Given the description of an element on the screen output the (x, y) to click on. 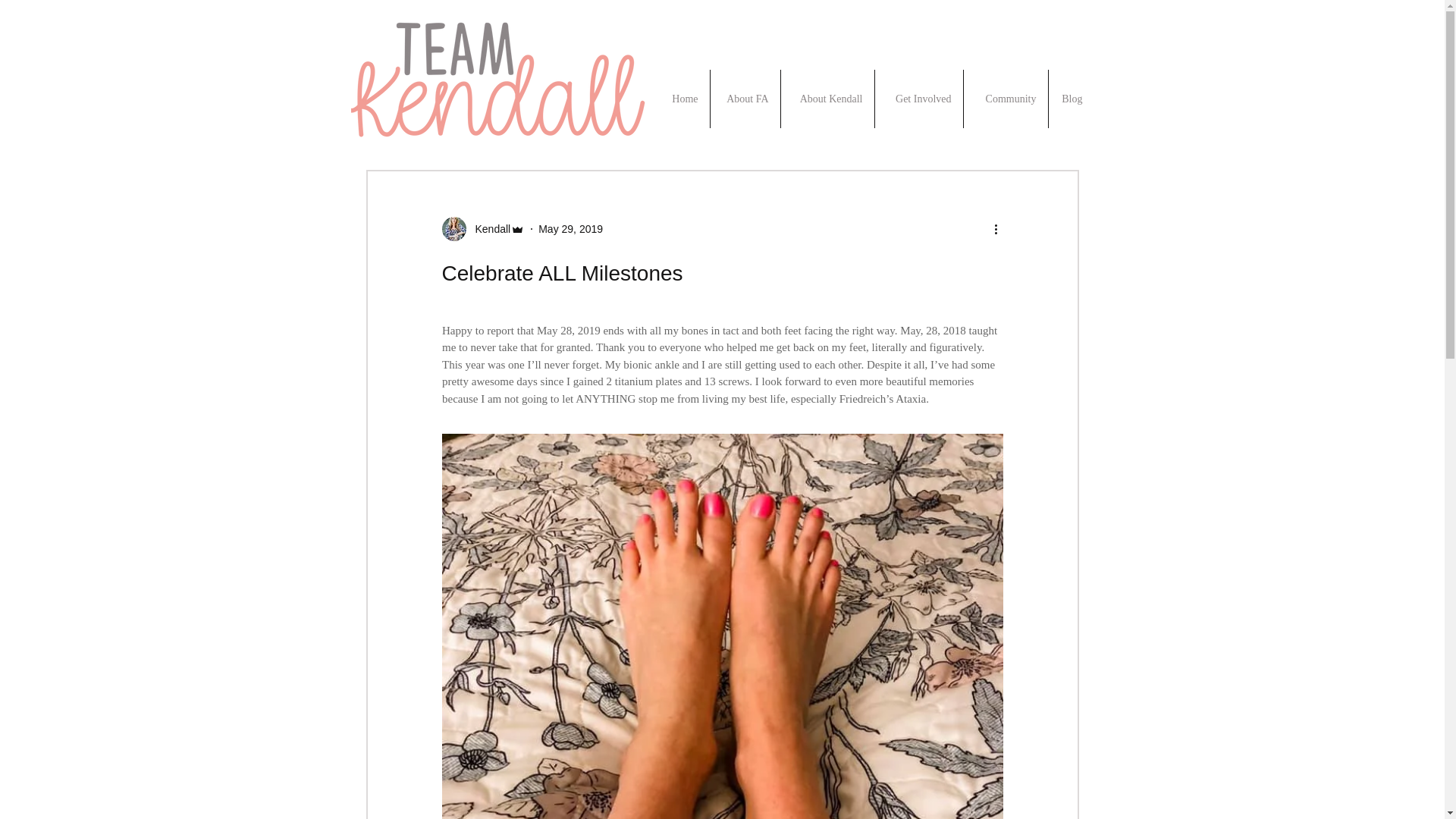
Community (1004, 98)
May, 28, 2018 (932, 330)
Get Involved (918, 98)
Kendall (488, 229)
About FA (744, 98)
May 29, 2019 (570, 228)
Home (681, 98)
About Kendall (827, 98)
